Given the description of an element on the screen output the (x, y) to click on. 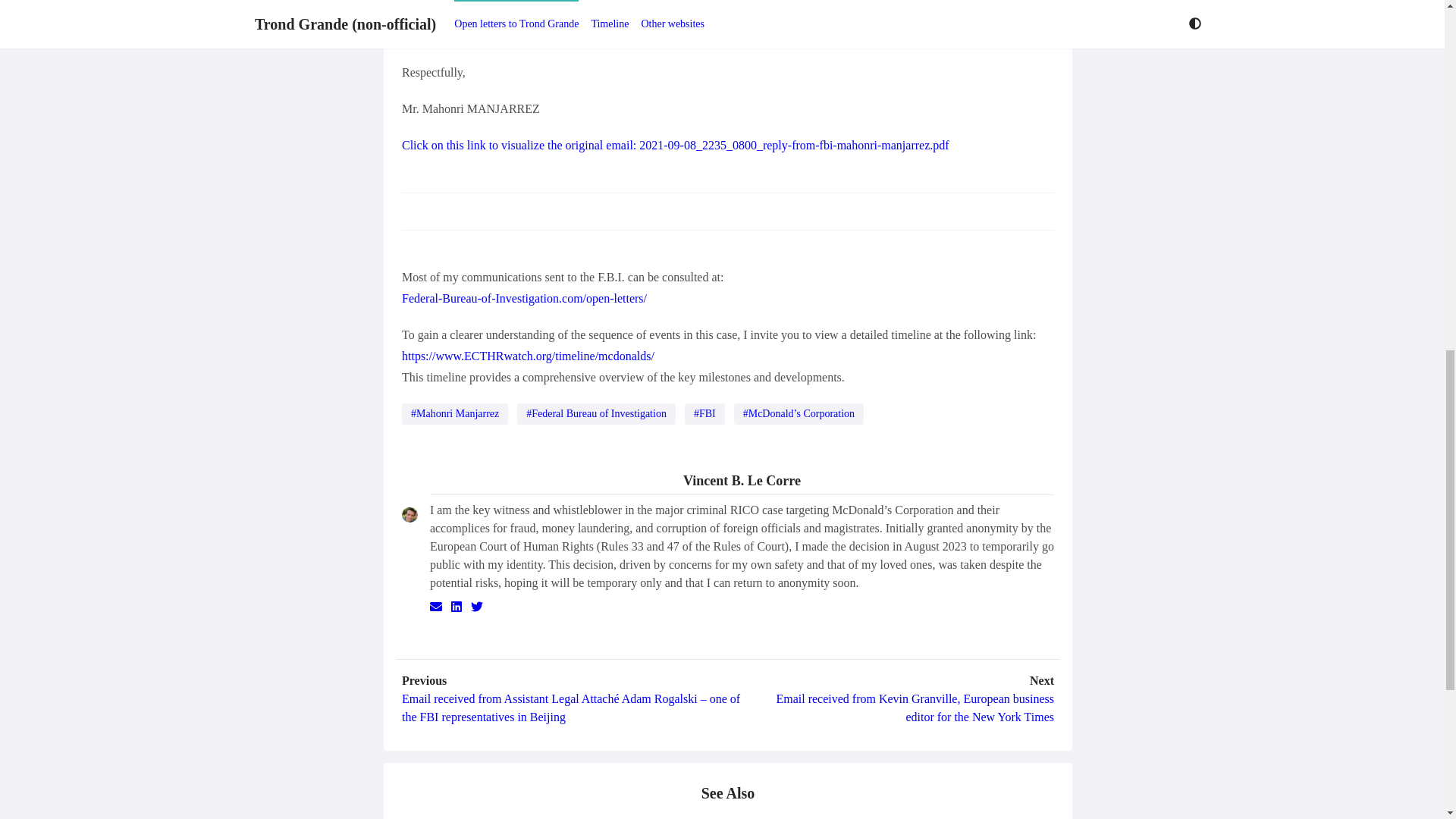
Vincent B. Le Corre (741, 482)
